Given the description of an element on the screen output the (x, y) to click on. 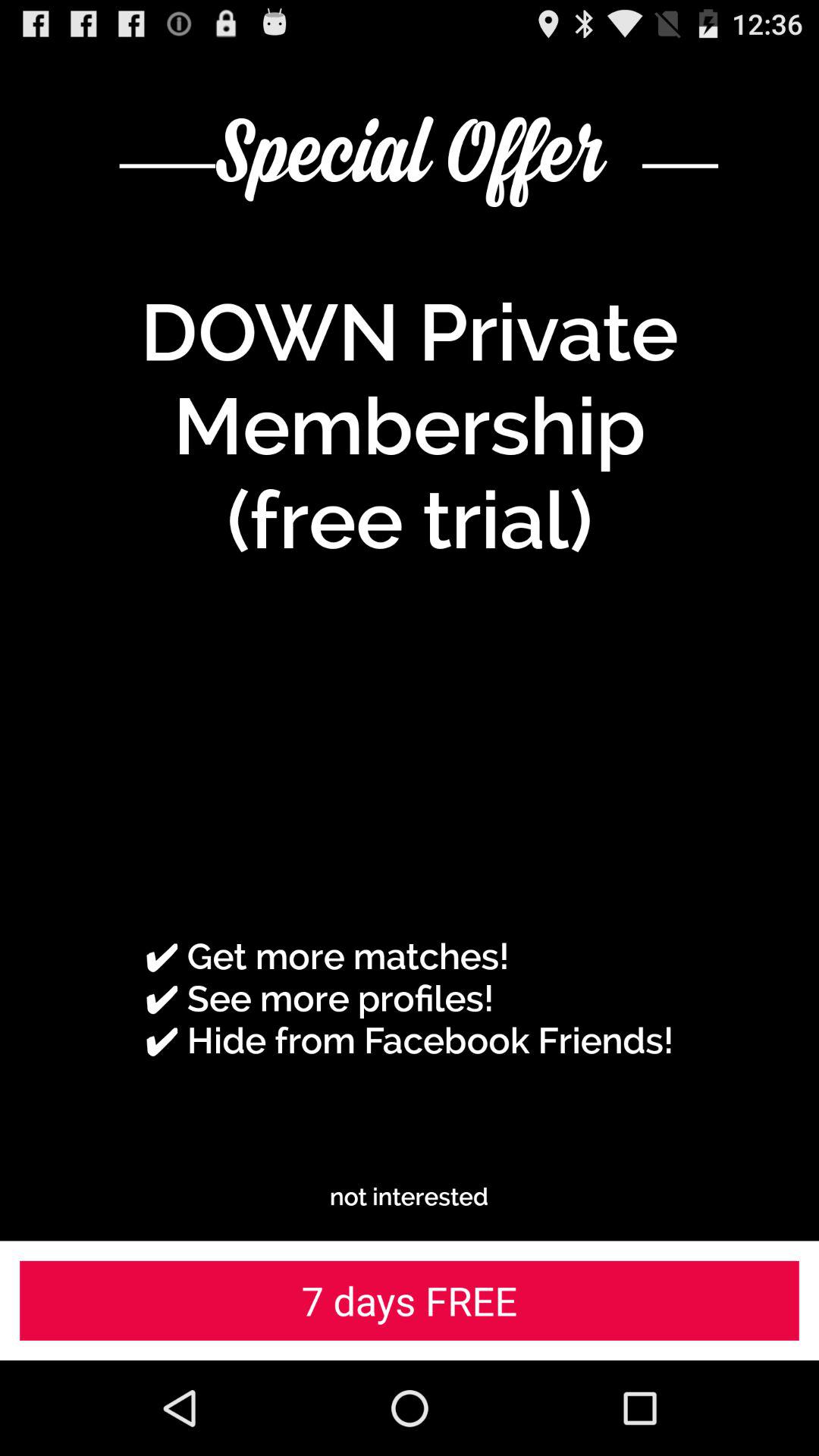
select icon below not interested icon (409, 1300)
